Given the description of an element on the screen output the (x, y) to click on. 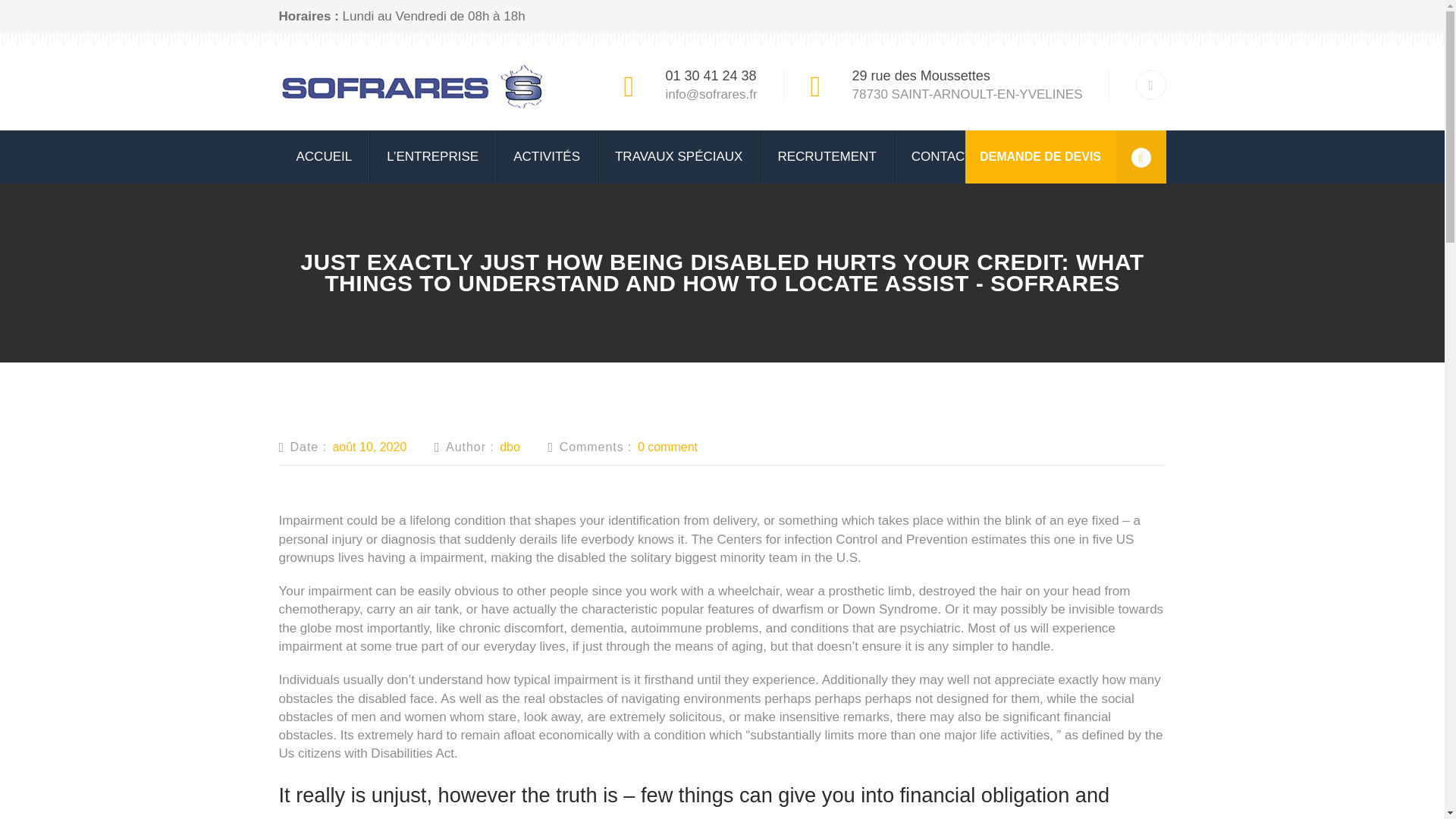
Contact (941, 156)
ACCUEIL (324, 156)
RECRUTEMENT (826, 156)
DEMANDE DE DEVIS (1064, 156)
RECRUTEMENT (826, 156)
ACCUEIL (324, 156)
CONTACT (941, 156)
